Given the description of an element on the screen output the (x, y) to click on. 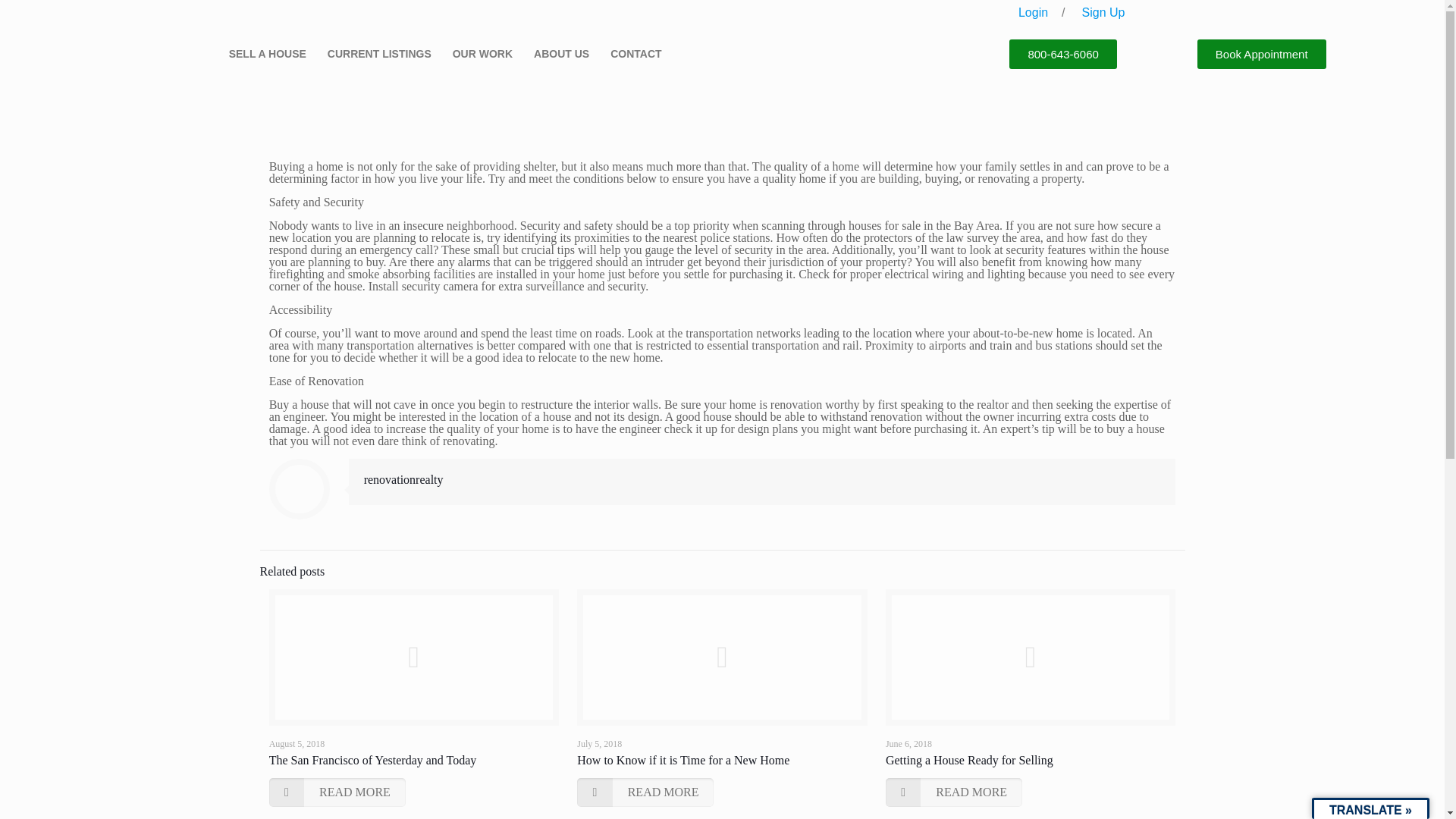
CURRENT LISTINGS (382, 53)
Book Appointment (1261, 53)
Login (1032, 11)
CONTACT (636, 53)
ABOUT US (565, 53)
Sign Up (1103, 11)
OUR WORK (486, 53)
800-643-6060 (1062, 53)
SELL A HOUSE (271, 53)
